Given the description of an element on the screen output the (x, y) to click on. 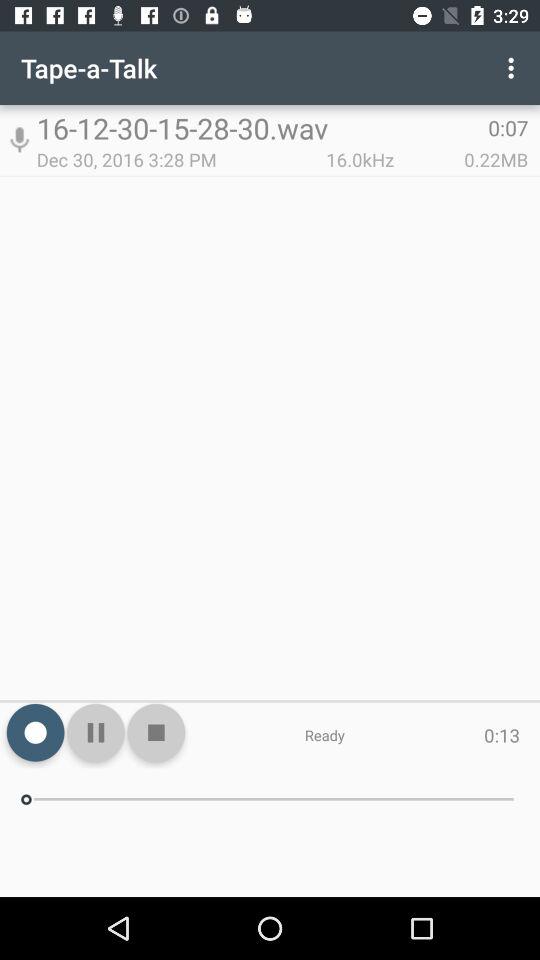
choose app below tape-a-talk (19, 140)
